Given the description of an element on the screen output the (x, y) to click on. 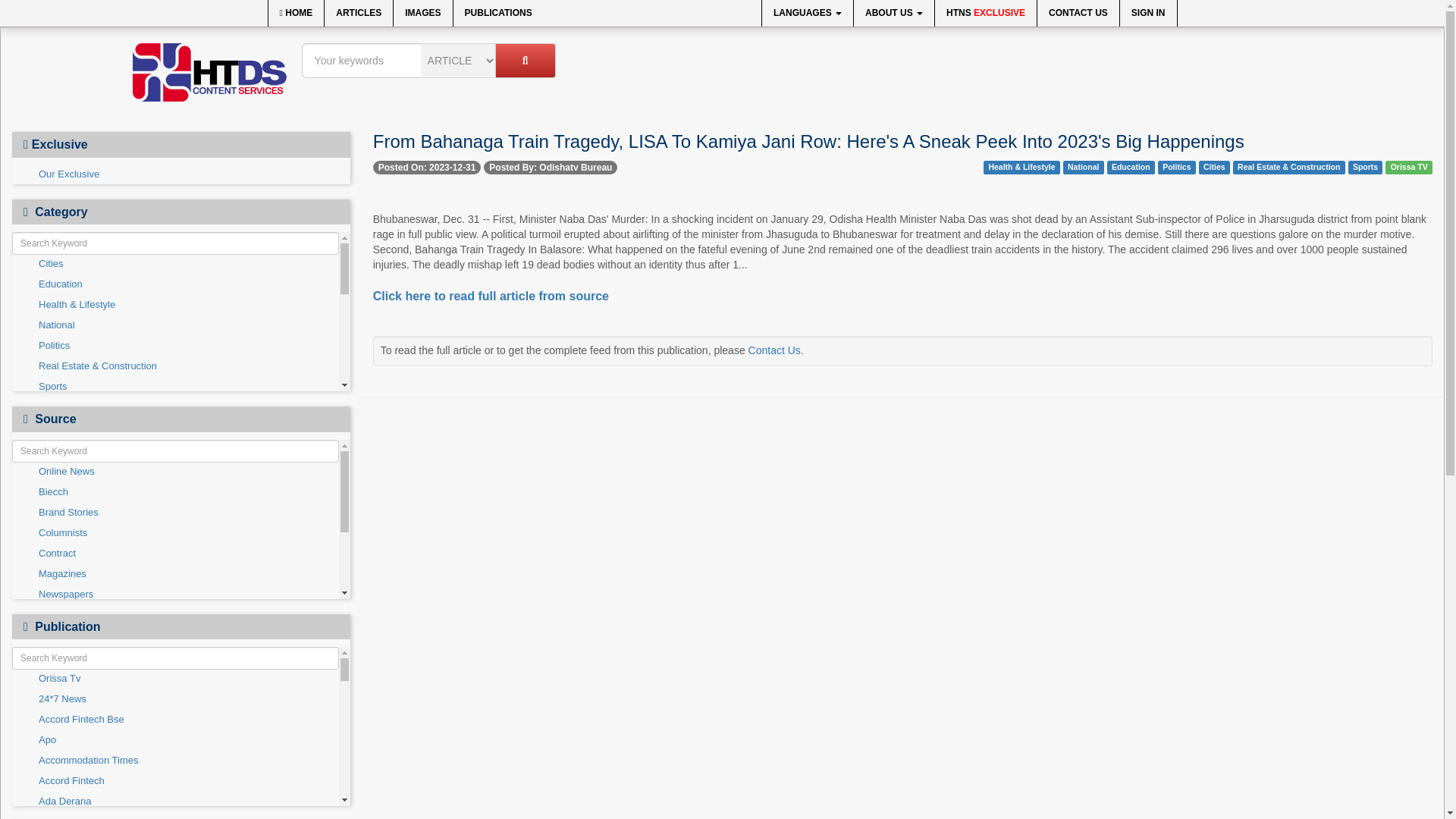
Government News (175, 529)
ARTICLES (358, 13)
Cities (175, 263)
Entertainment (175, 509)
Others (175, 571)
International (175, 550)
Sports (175, 386)
National (175, 325)
Sponsored (175, 611)
Columnists (175, 468)
